Given the description of an element on the screen output the (x, y) to click on. 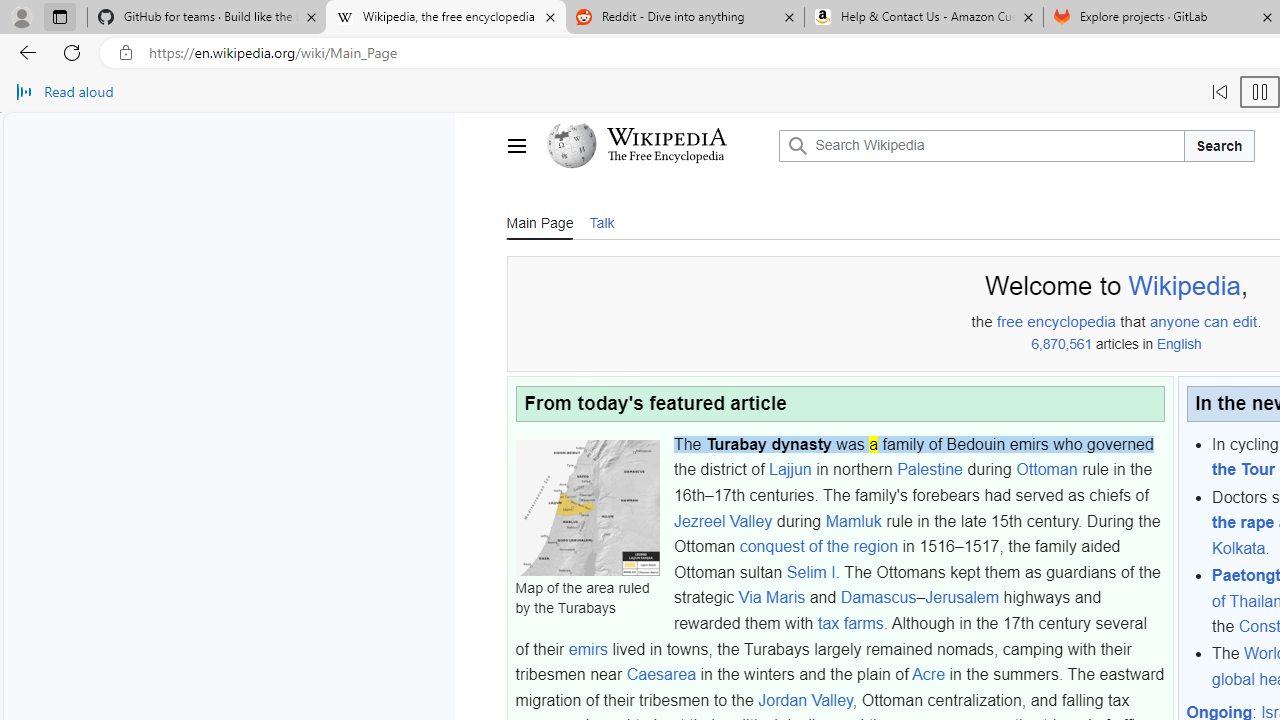
Pause read aloud (Ctrl+Shift+U) (1260, 92)
Main Page (539, 222)
Mamluk (853, 520)
Talk (601, 222)
Lajjun (790, 469)
Map of the area ruled by the Turabays (587, 507)
Main menu (516, 146)
Damascus (877, 597)
tax farms (850, 623)
The Free Encyclopedia (666, 157)
Wikipedia The Free Encyclopedia (657, 145)
